Given the description of an element on the screen output the (x, y) to click on. 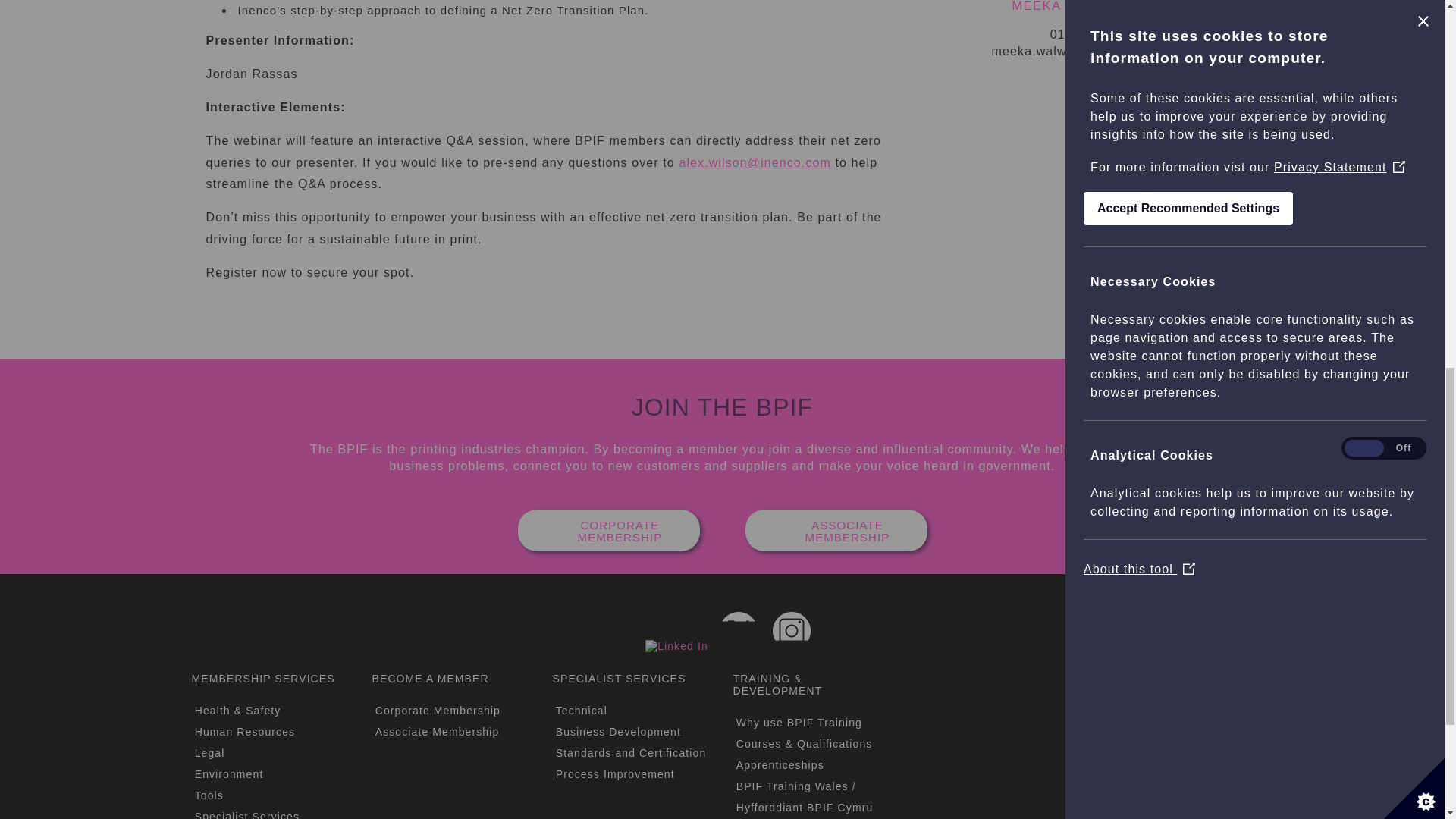
Standards and Certification (631, 752)
Corporate Membership (437, 710)
Tools (209, 795)
Technical (581, 710)
Human Resources (245, 731)
Legal (210, 752)
Business Development (618, 731)
Twitter (738, 630)
Environment (229, 774)
Associate Membership (437, 731)
